Given the description of an element on the screen output the (x, y) to click on. 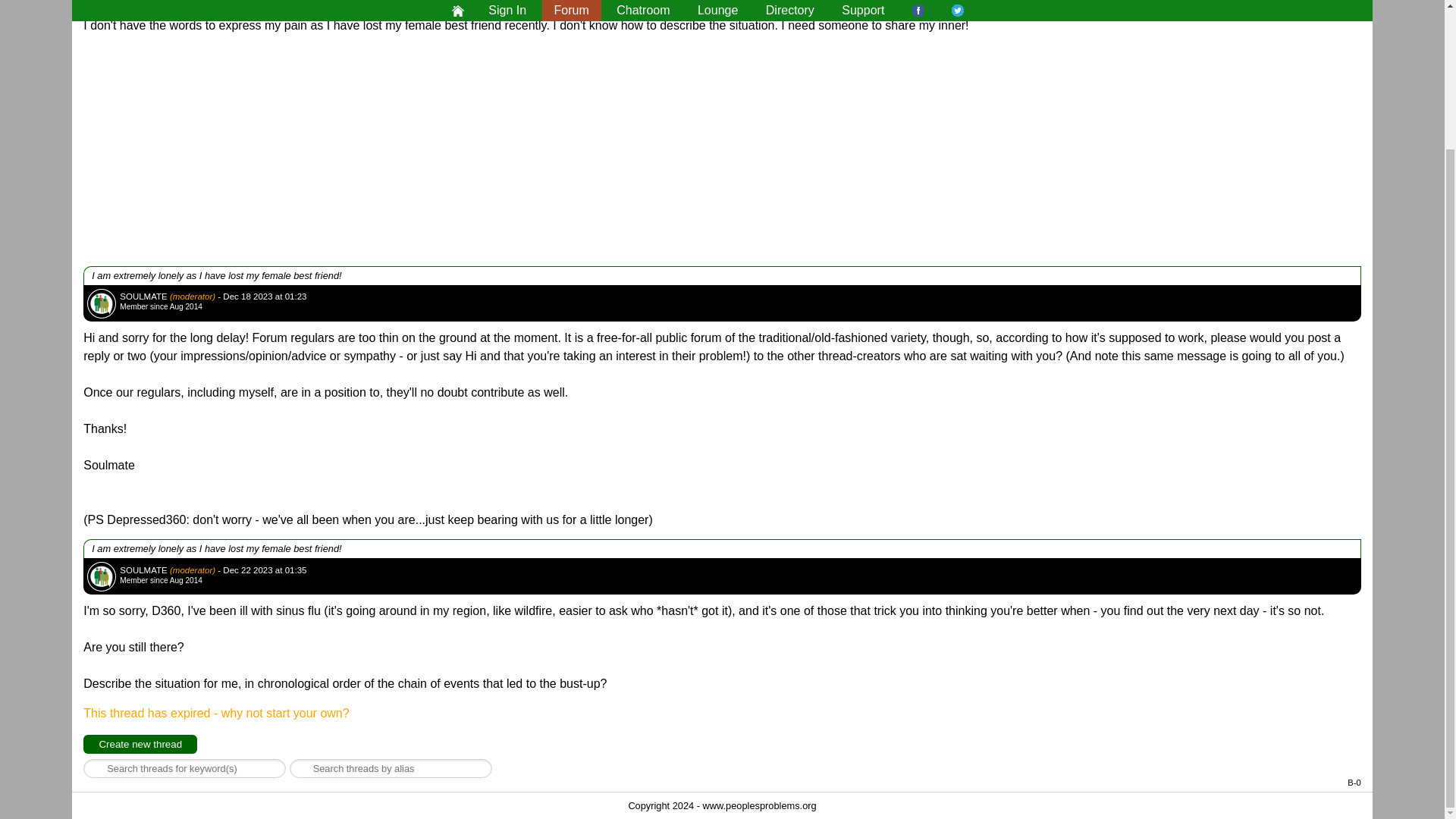
Create new thread (139, 743)
